Given the description of an element on the screen output the (x, y) to click on. 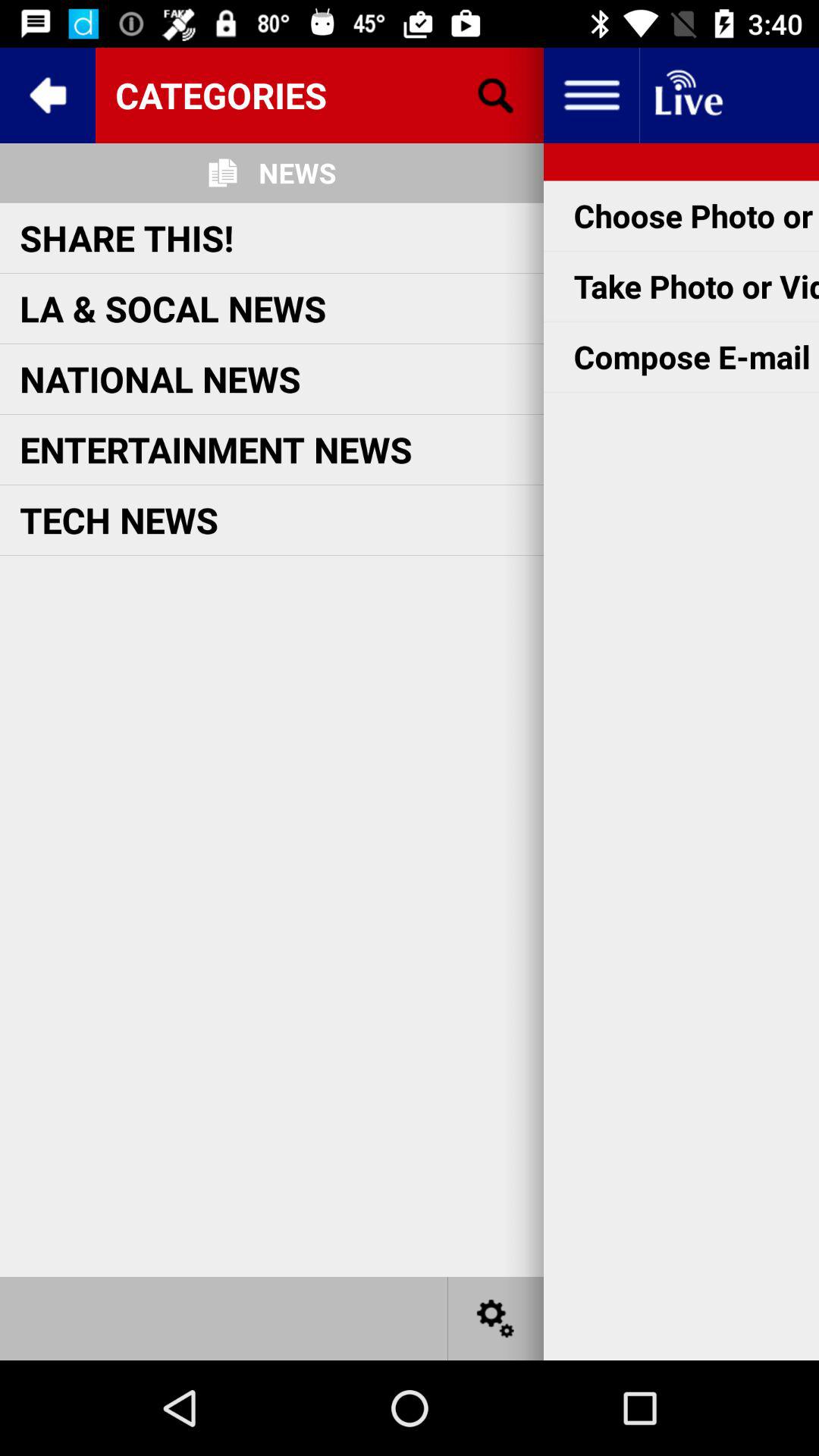
search another categories (495, 95)
